Given the description of an element on the screen output the (x, y) to click on. 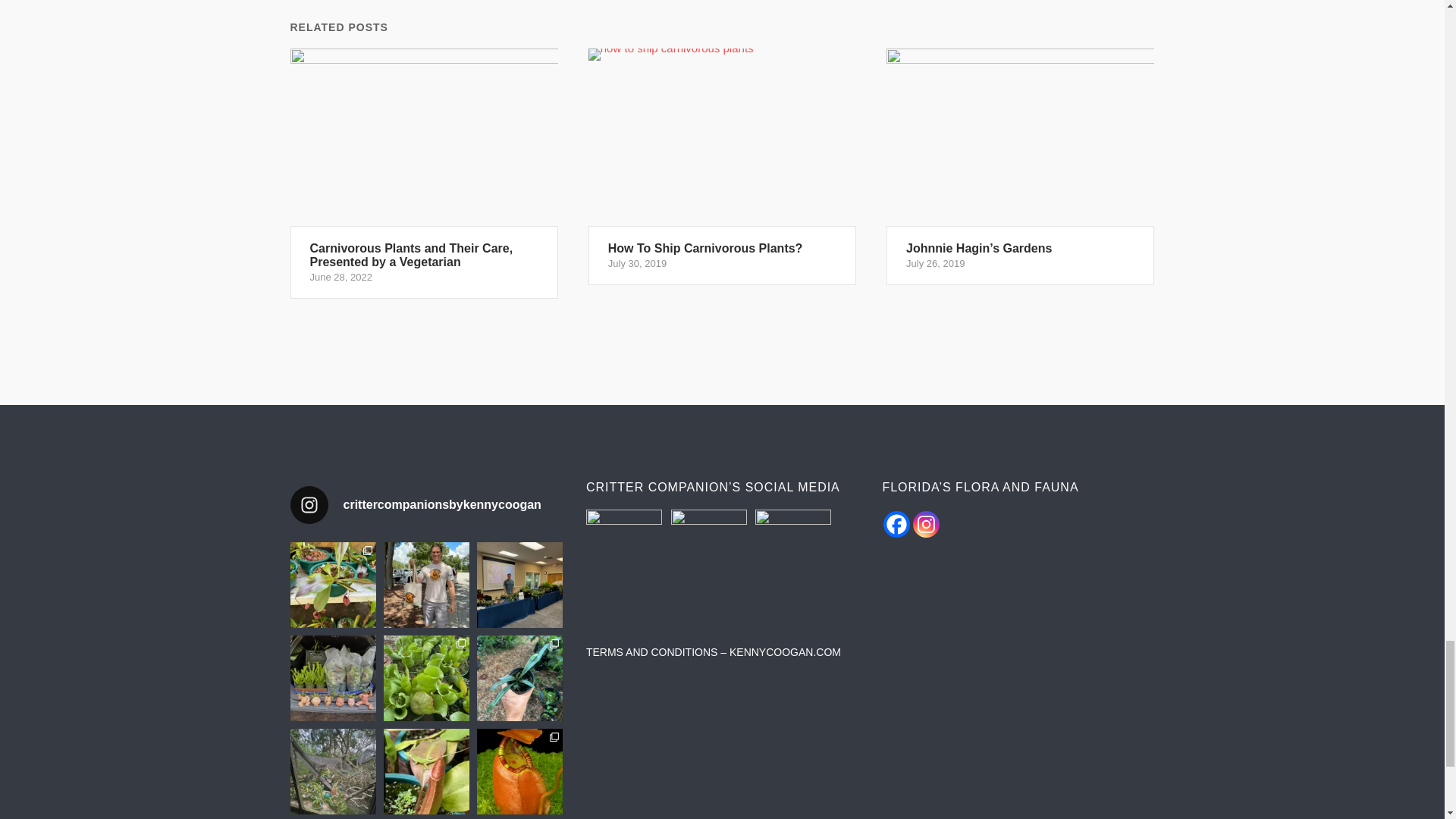
Carnivorous Plants and Their Care, Presented by a Vegetarian (423, 173)
crittercompanionsbykennycoogan (425, 505)
How To Ship Carnivorous Plants? (722, 166)
